Given the description of an element on the screen output the (x, y) to click on. 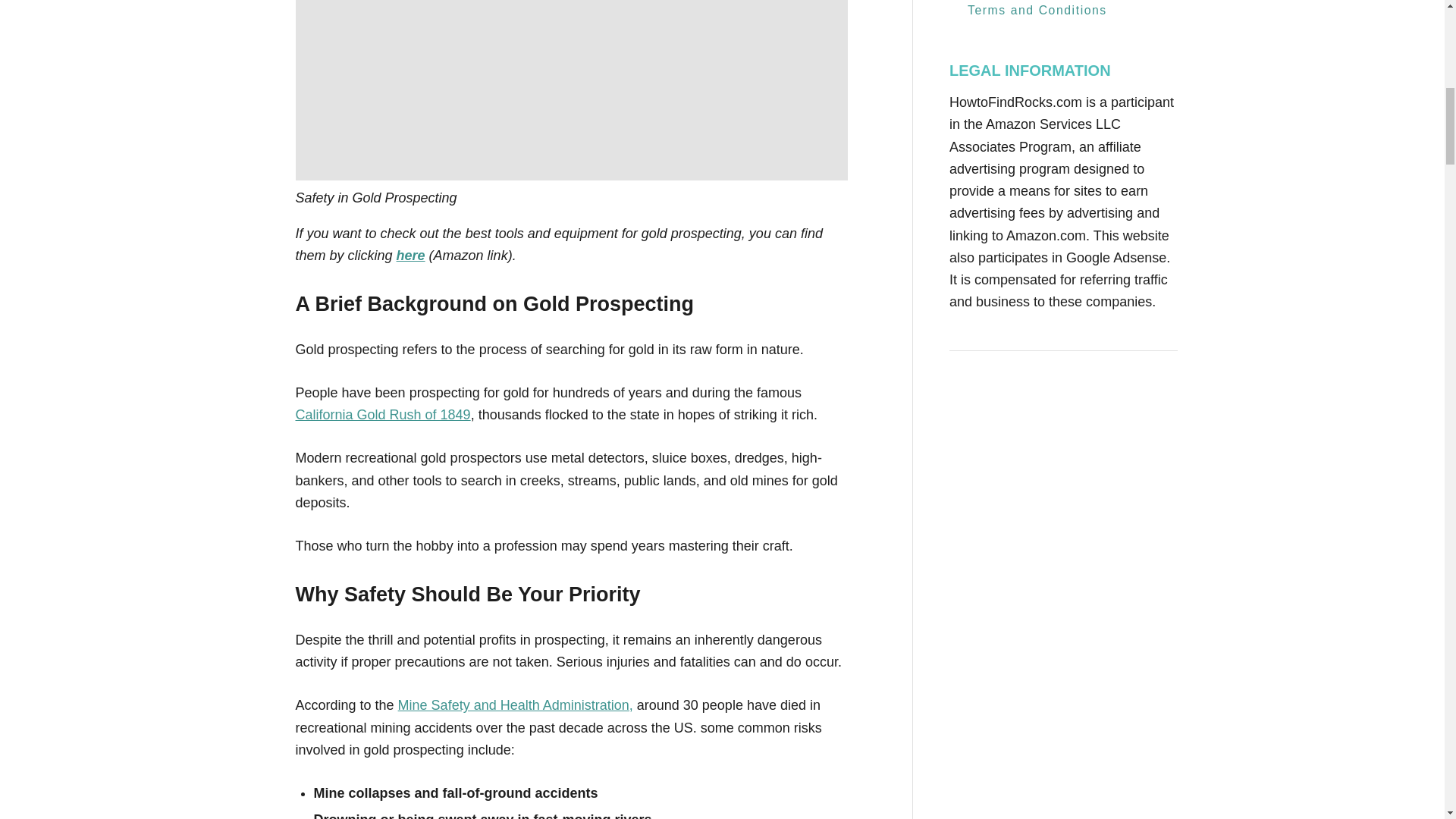
here (410, 255)
Mine Safety and Health Administration, (515, 704)
Terms and Conditions (1037, 12)
California Gold Rush of 1849 (382, 414)
